Given the description of an element on the screen output the (x, y) to click on. 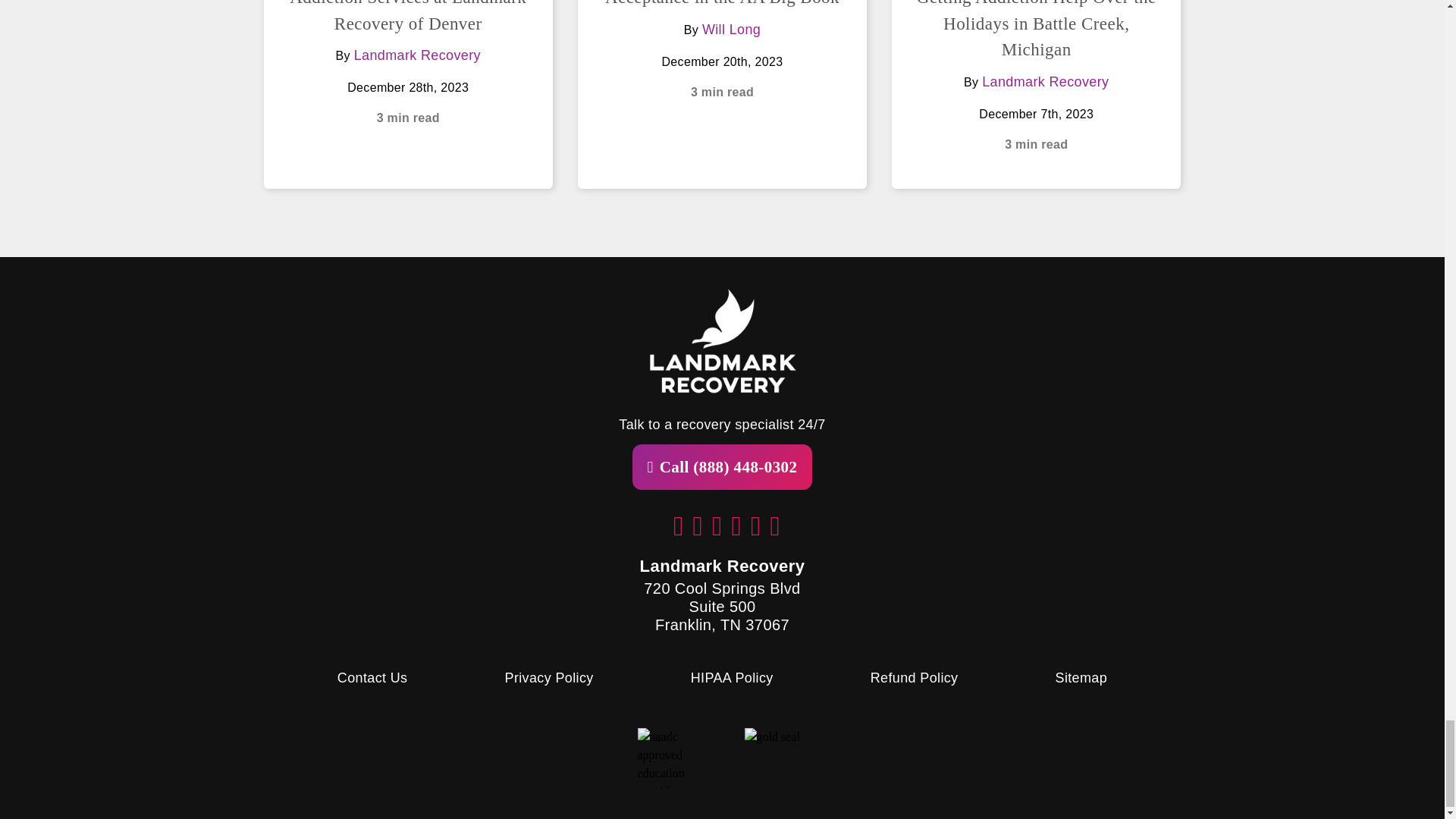
Permanent Link to Acceptance in the AA Big Book (722, 3)
Landmark Recovery (416, 55)
Landmark Recovery (1044, 81)
Will Long (730, 28)
